Given the description of an element on the screen output the (x, y) to click on. 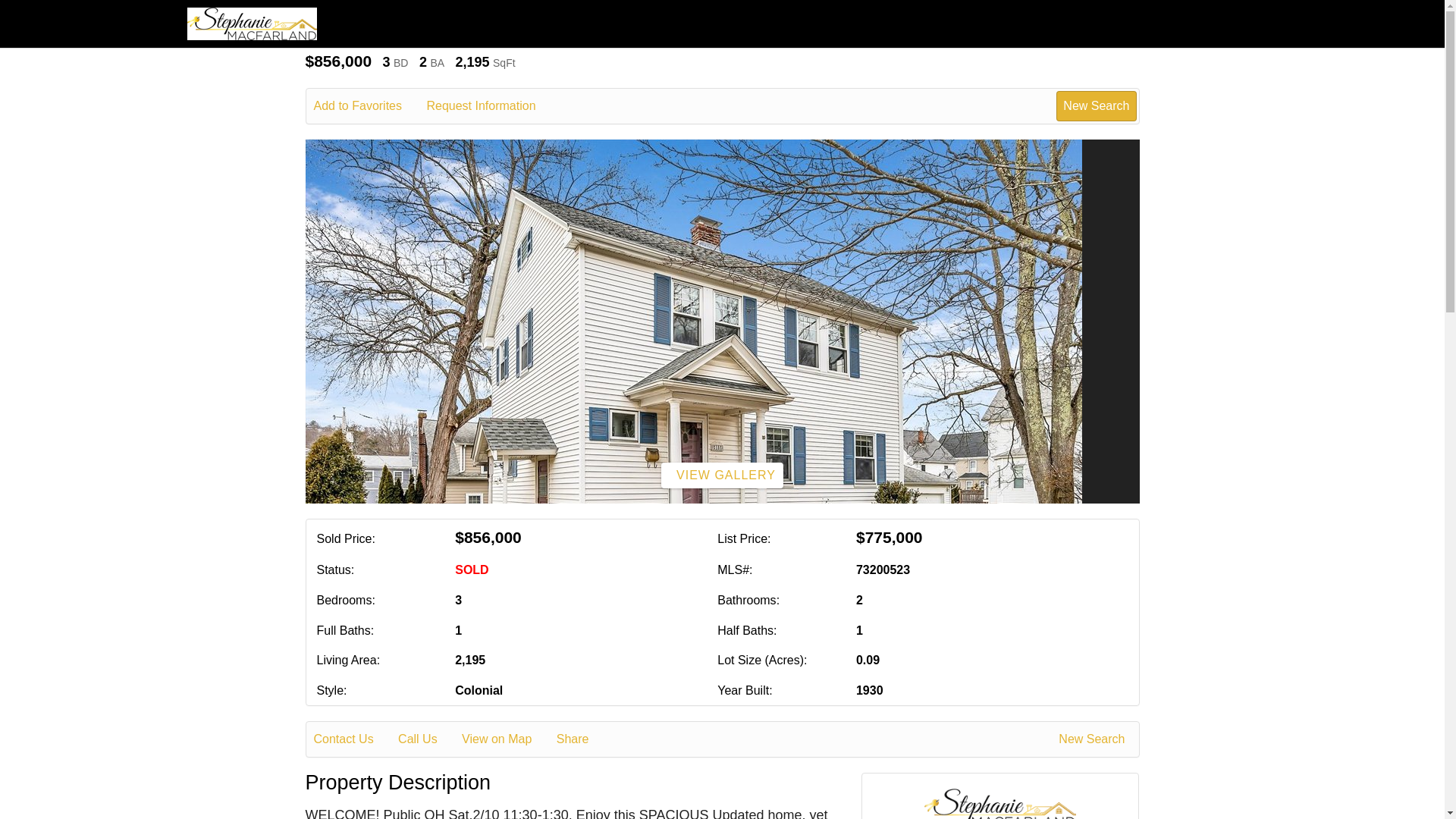
VIEW GALLERY (722, 474)
New Search (1096, 105)
Call Us (427, 739)
Share (583, 739)
VIEW GALLERY (722, 475)
Request Information (491, 106)
View on Map (507, 739)
Contact Us (354, 739)
New Search (1094, 739)
Add to Favorites (368, 106)
